Given the description of an element on the screen output the (x, y) to click on. 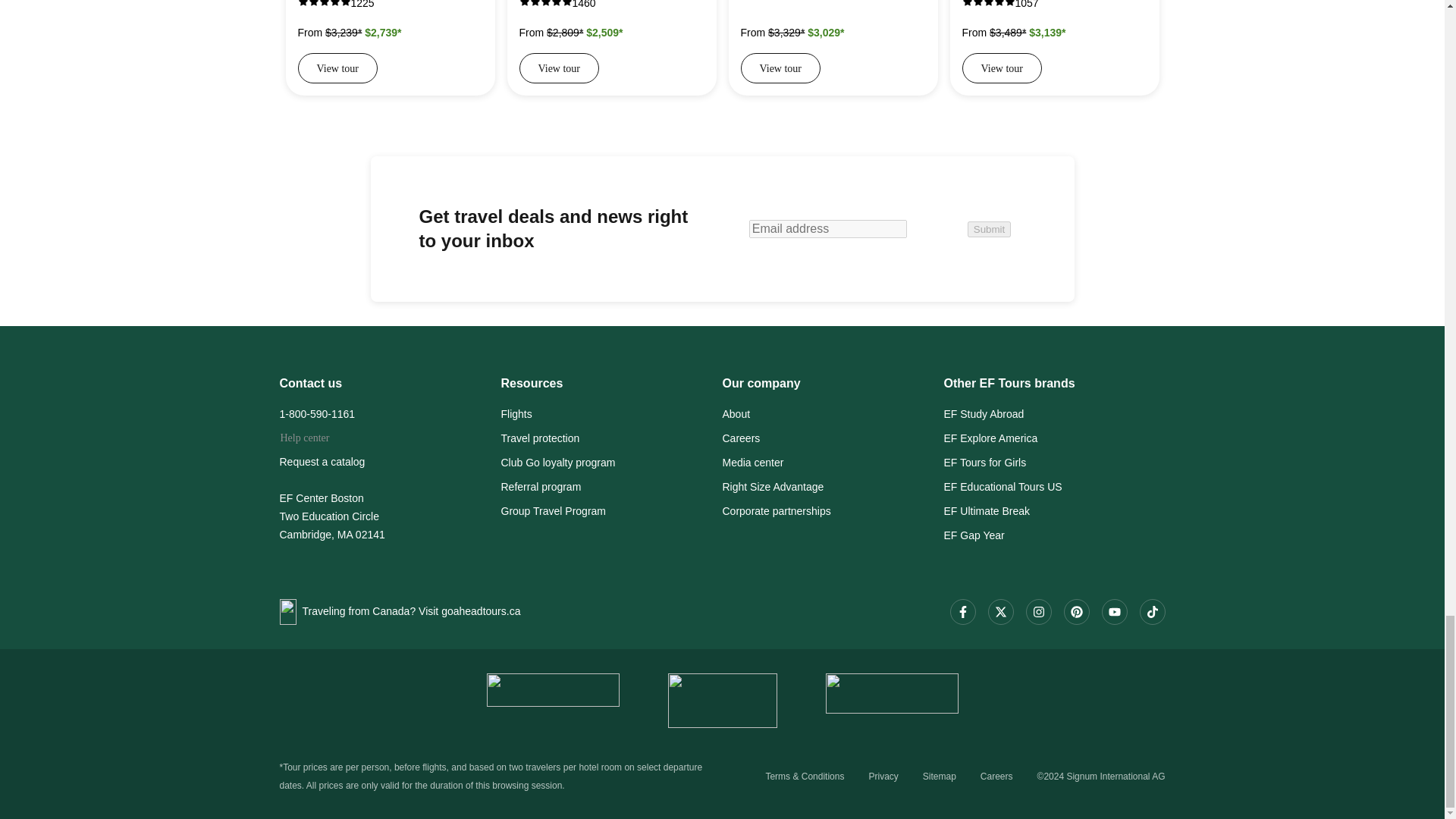
Request a catalog (389, 464)
1-800-590-1161 (389, 416)
Help center (304, 440)
Submit (989, 229)
